Given the description of an element on the screen output the (x, y) to click on. 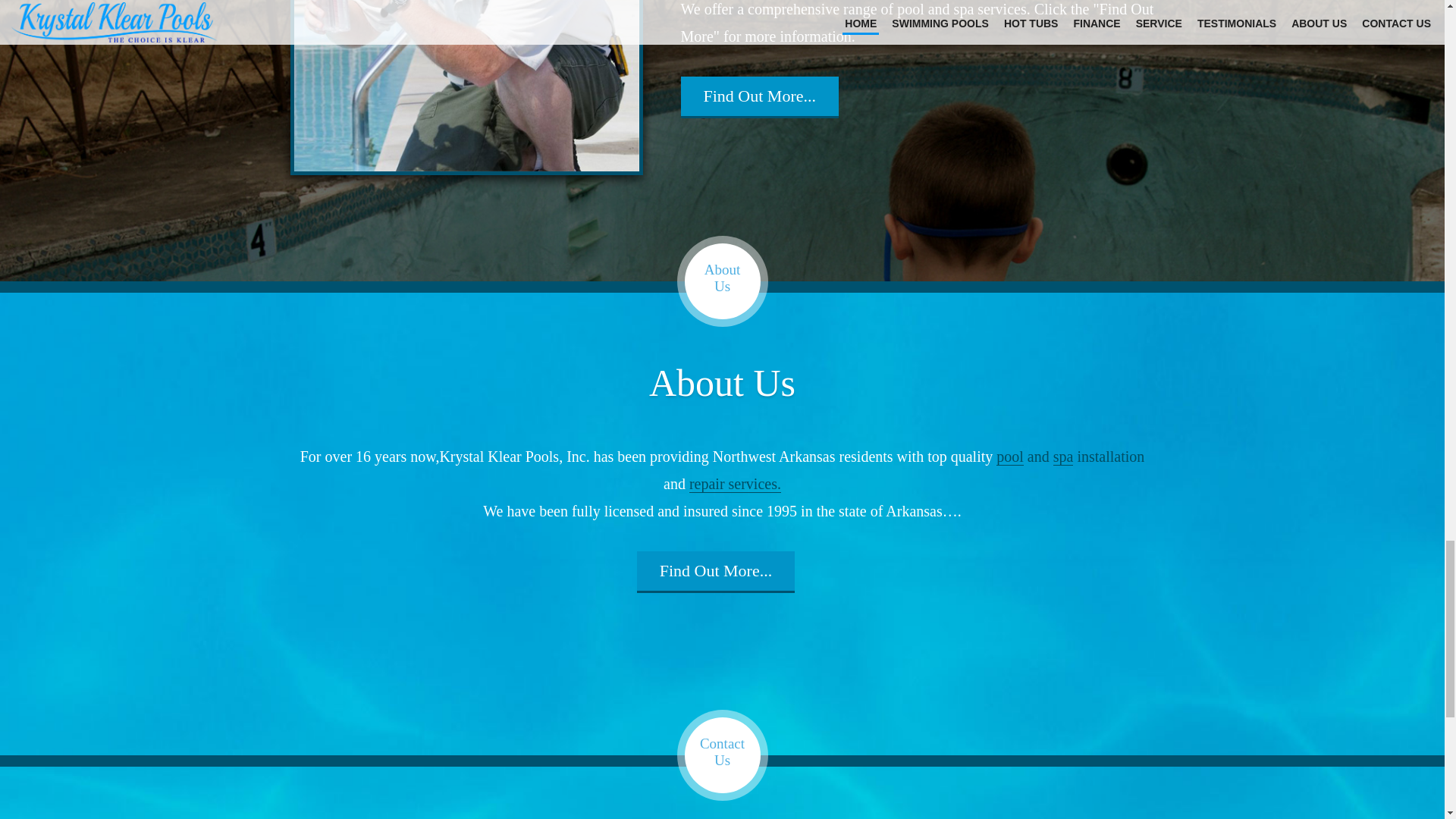
Find Out More... (760, 96)
repair services. (734, 484)
spa (1063, 456)
Find Out More... (715, 570)
pool (1009, 456)
